Given the description of an element on the screen output the (x, y) to click on. 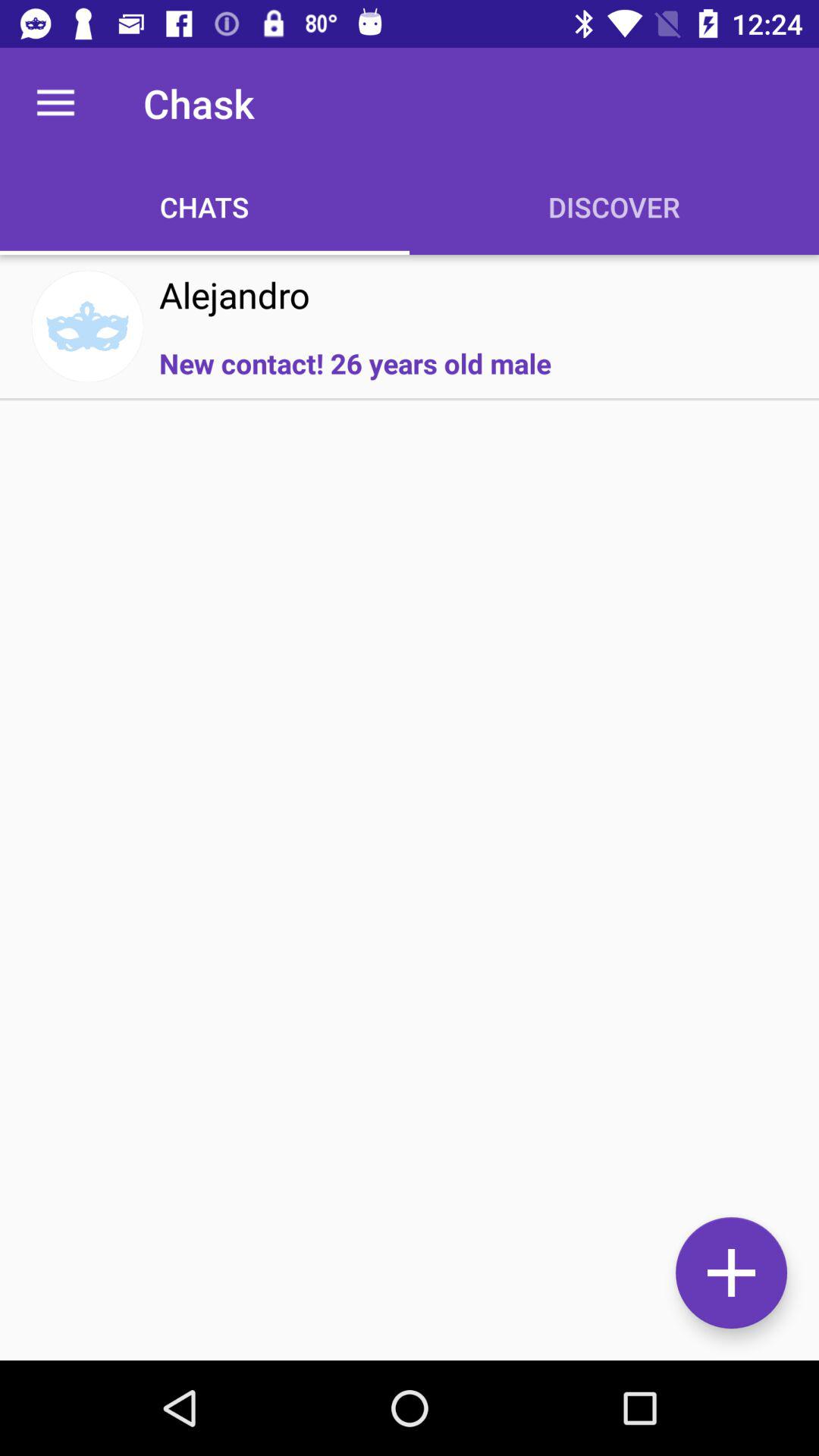
add a contact (731, 1272)
